Given the description of an element on the screen output the (x, y) to click on. 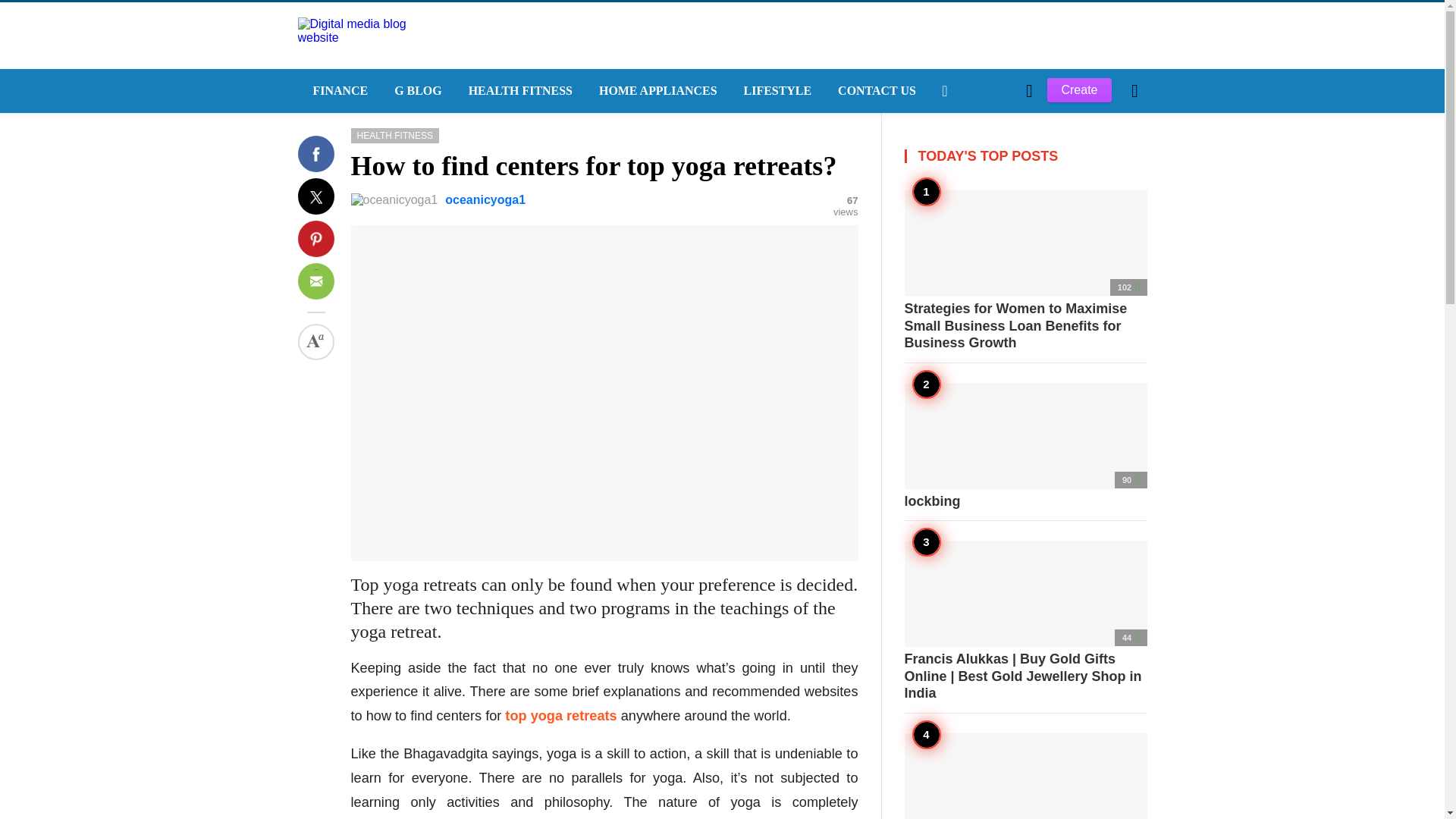
Log in (962, 347)
lockbing (1025, 445)
sign up (964, 347)
CONTACT US (874, 90)
G BLOG (415, 90)
HOME APPLIANCES (656, 90)
FINANCE (337, 90)
Masonic Supplies (1025, 775)
HEALTH FITNESS (517, 90)
